Given the description of an element on the screen output the (x, y) to click on. 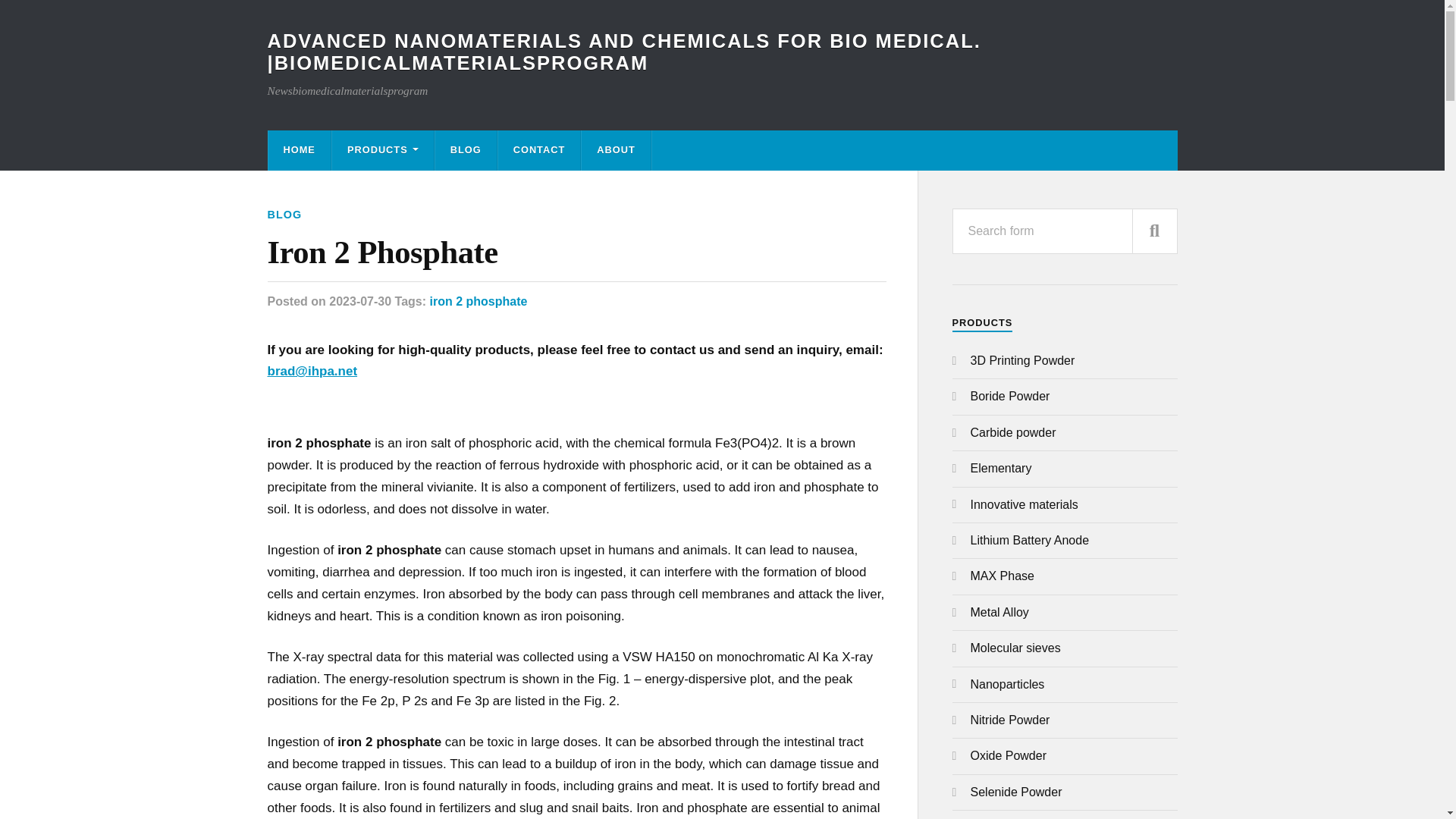
BLOG (465, 150)
ABOUT (615, 150)
CONTACT (538, 150)
PRODUCTS (382, 150)
HOME (298, 150)
